Given the description of an element on the screen output the (x, y) to click on. 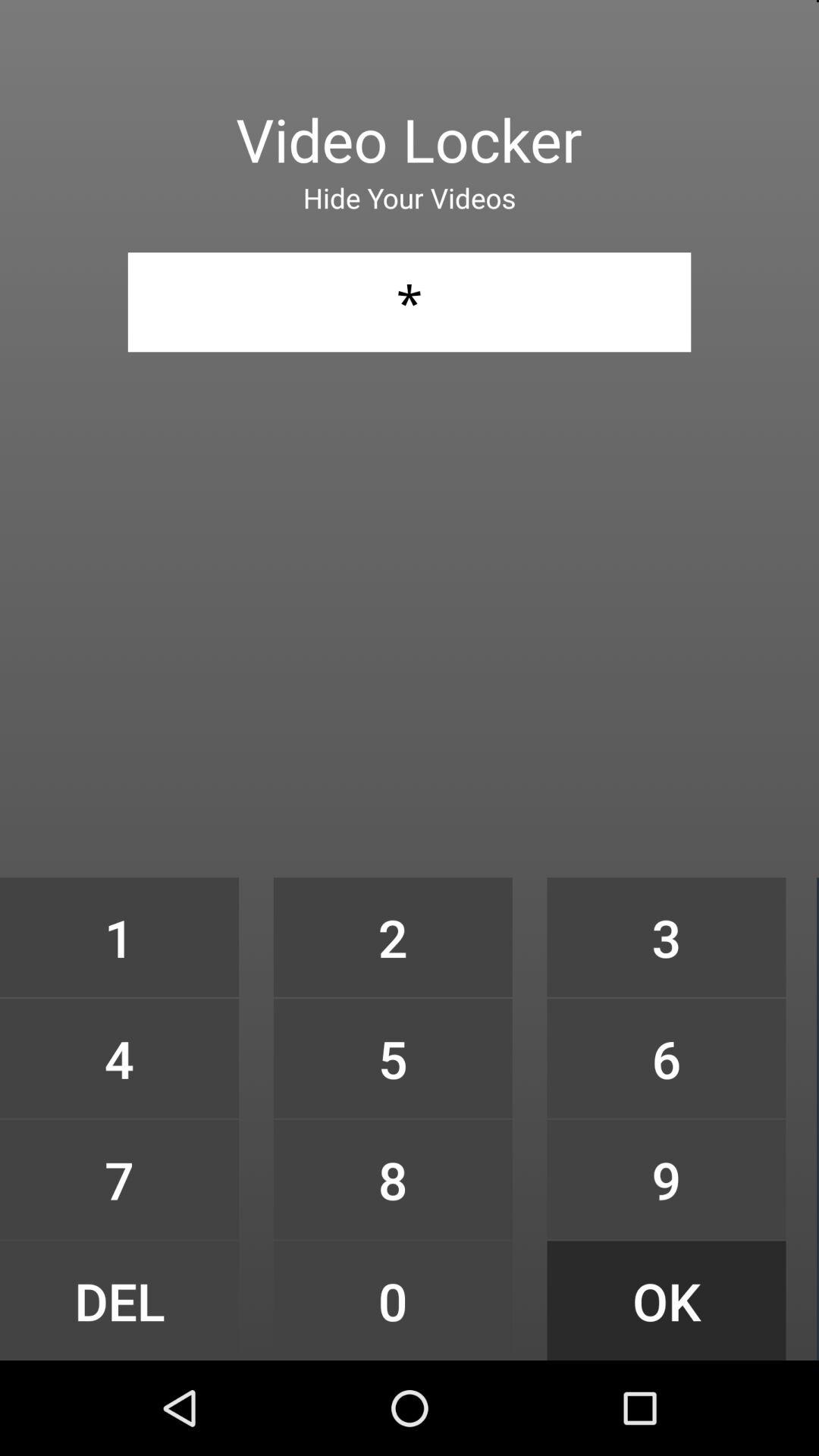
click the icon above the 7 icon (119, 1058)
